Given the description of an element on the screen output the (x, y) to click on. 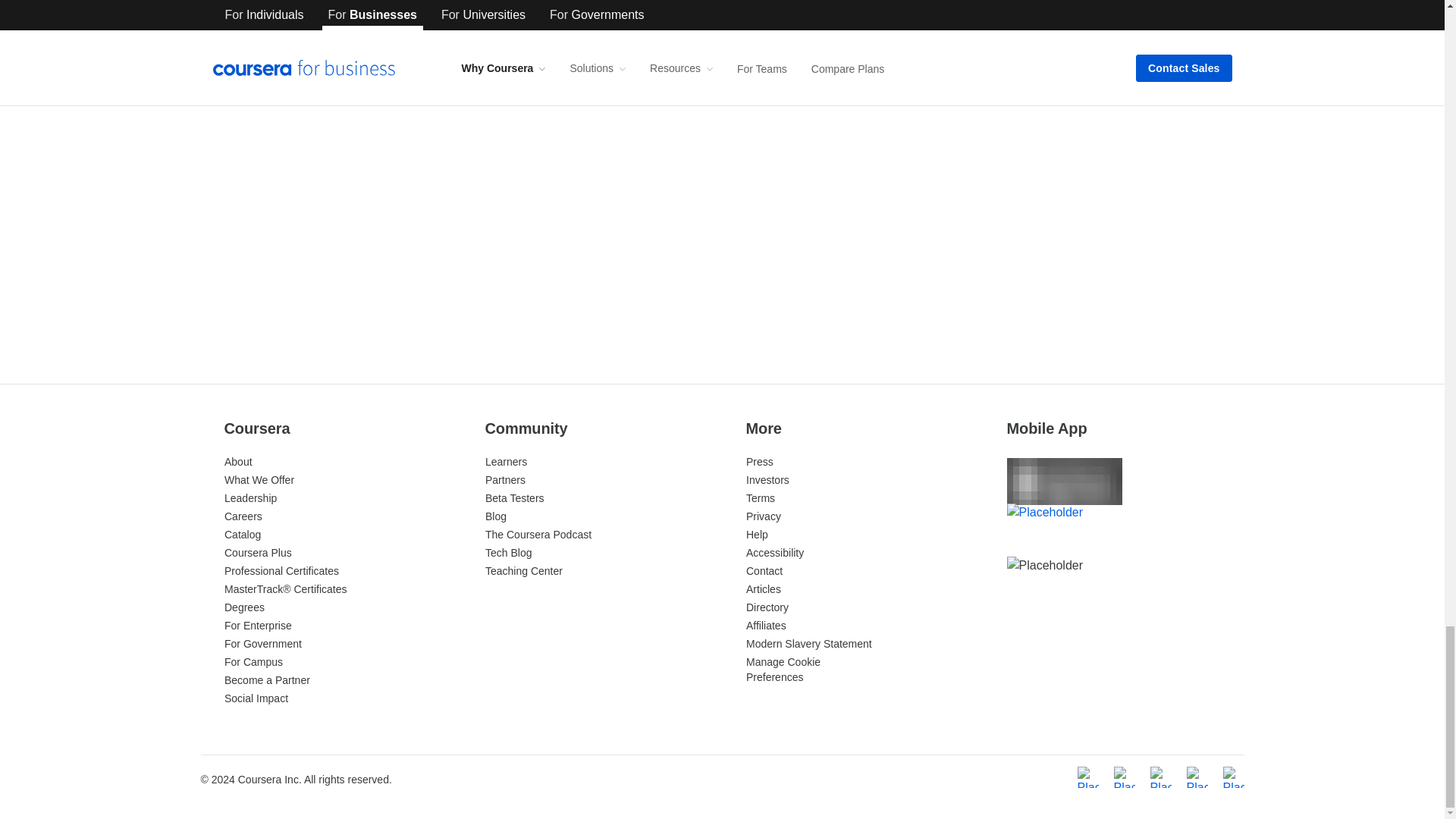
What We Offer (259, 480)
Coursera Plus (258, 552)
Careers (243, 516)
Leadership (250, 498)
Get report (287, 277)
Catalog (242, 534)
Professional Certificates (281, 571)
Degrees (244, 607)
About (237, 461)
Watch now (961, 277)
Get report (623, 277)
